Given the description of an element on the screen output the (x, y) to click on. 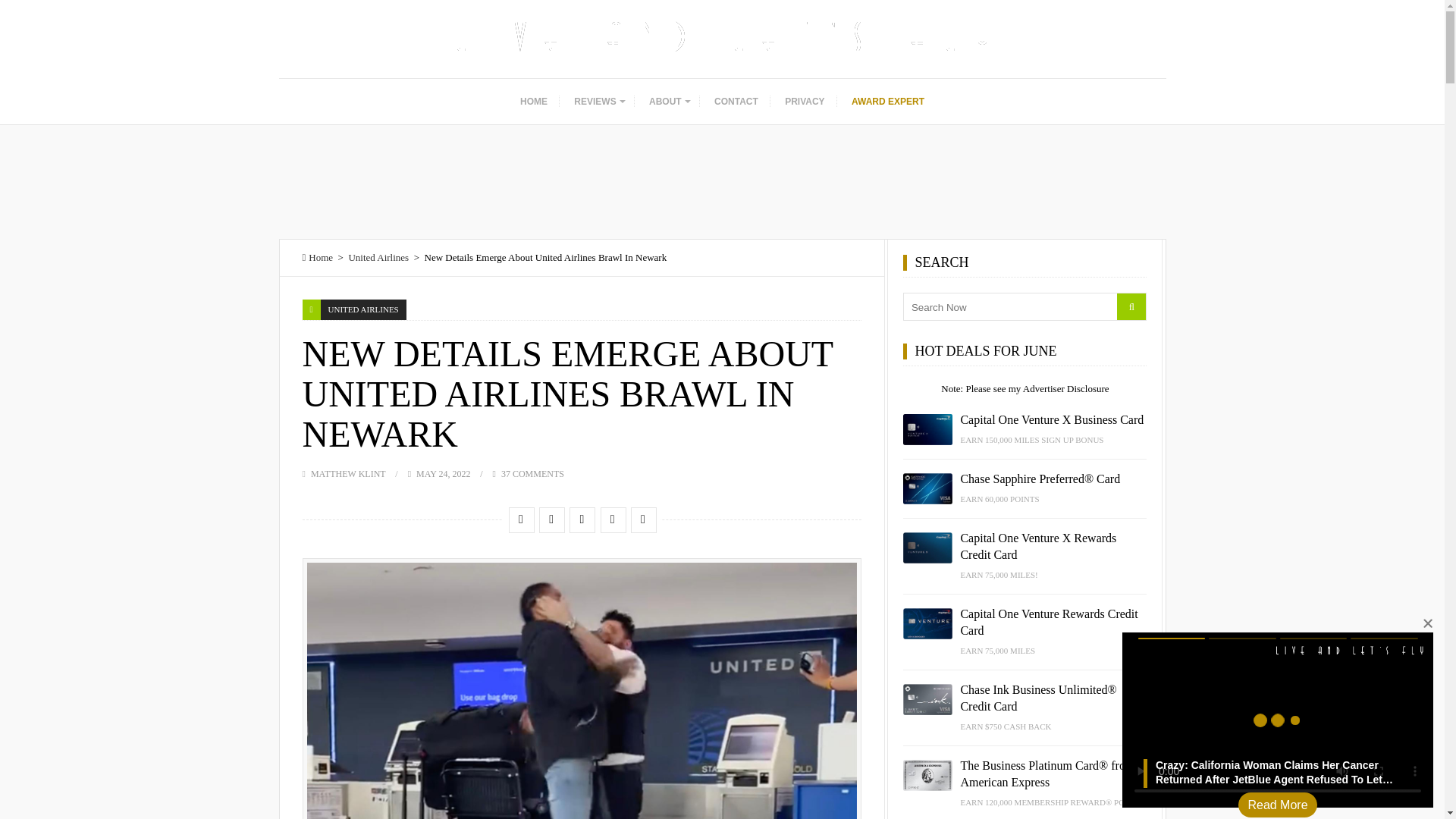
Home (317, 256)
ABOUT (668, 101)
MAY 24, 2022 (443, 473)
CONTACT (735, 101)
AWARD EXPERT (888, 101)
MATTHEW KLINT (348, 473)
HOME (533, 101)
UNITED AIRLINES (363, 309)
Posts by Matthew Klint (348, 473)
PRIVACY (804, 101)
37 COMMENTS (532, 473)
View all posts in United Airlines (363, 309)
REVIEWS (597, 101)
United Airlines (378, 256)
